Given the description of an element on the screen output the (x, y) to click on. 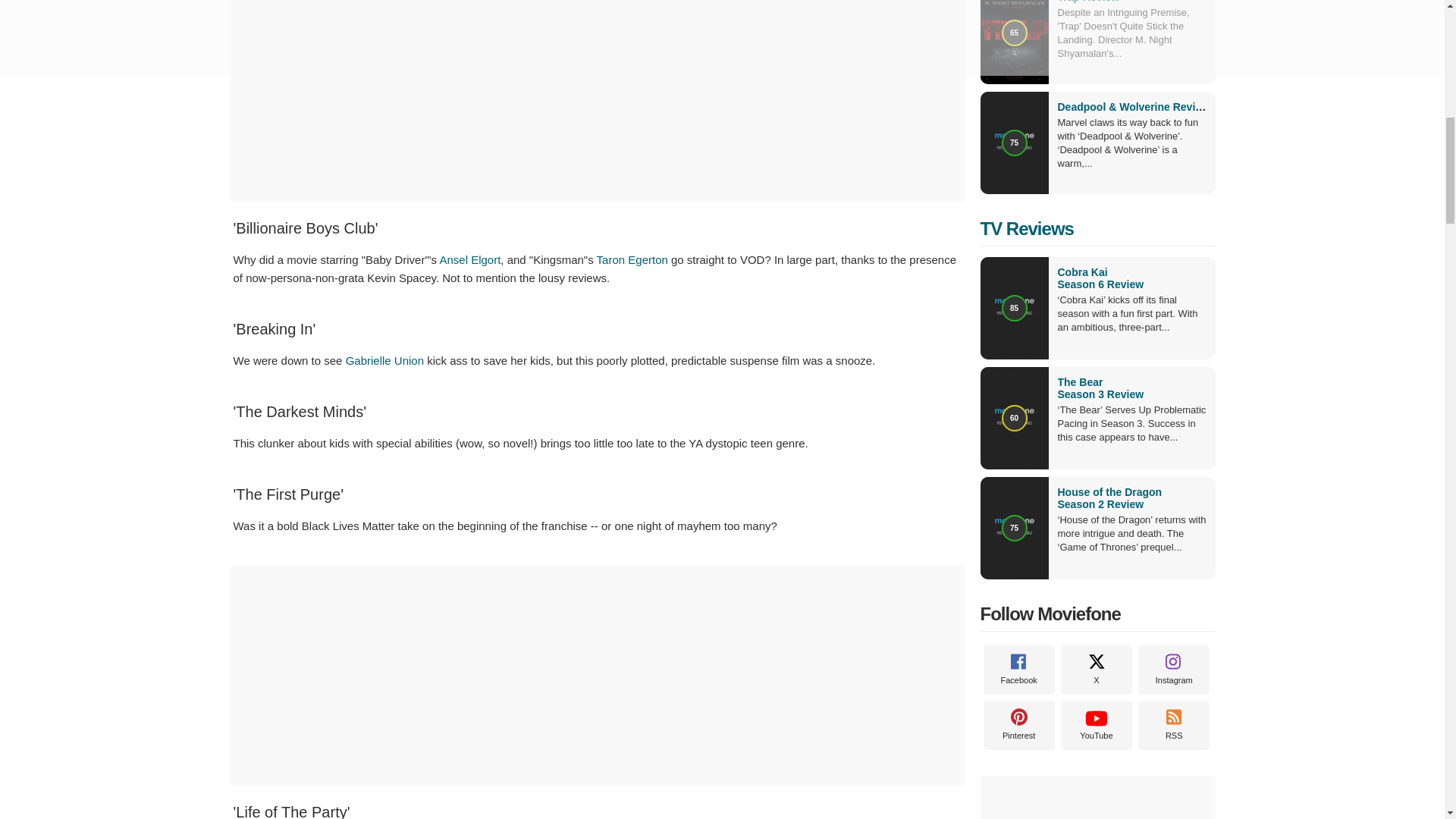
Link to us (1173, 725)
Follow Moviefone on Pinterest (1018, 725)
House of the Dragon movie (1132, 498)
Follow Moviefone on X (1096, 669)
Cobra Kai movie (1132, 278)
The Bear movie (1132, 387)
Follow Moviefone on Instagram (1173, 669)
Trap movie (1088, 1)
Subscribe to Moviefone on YouTube (1096, 725)
Follow Moviefone on Facebook (1018, 669)
